Given the description of an element on the screen output the (x, y) to click on. 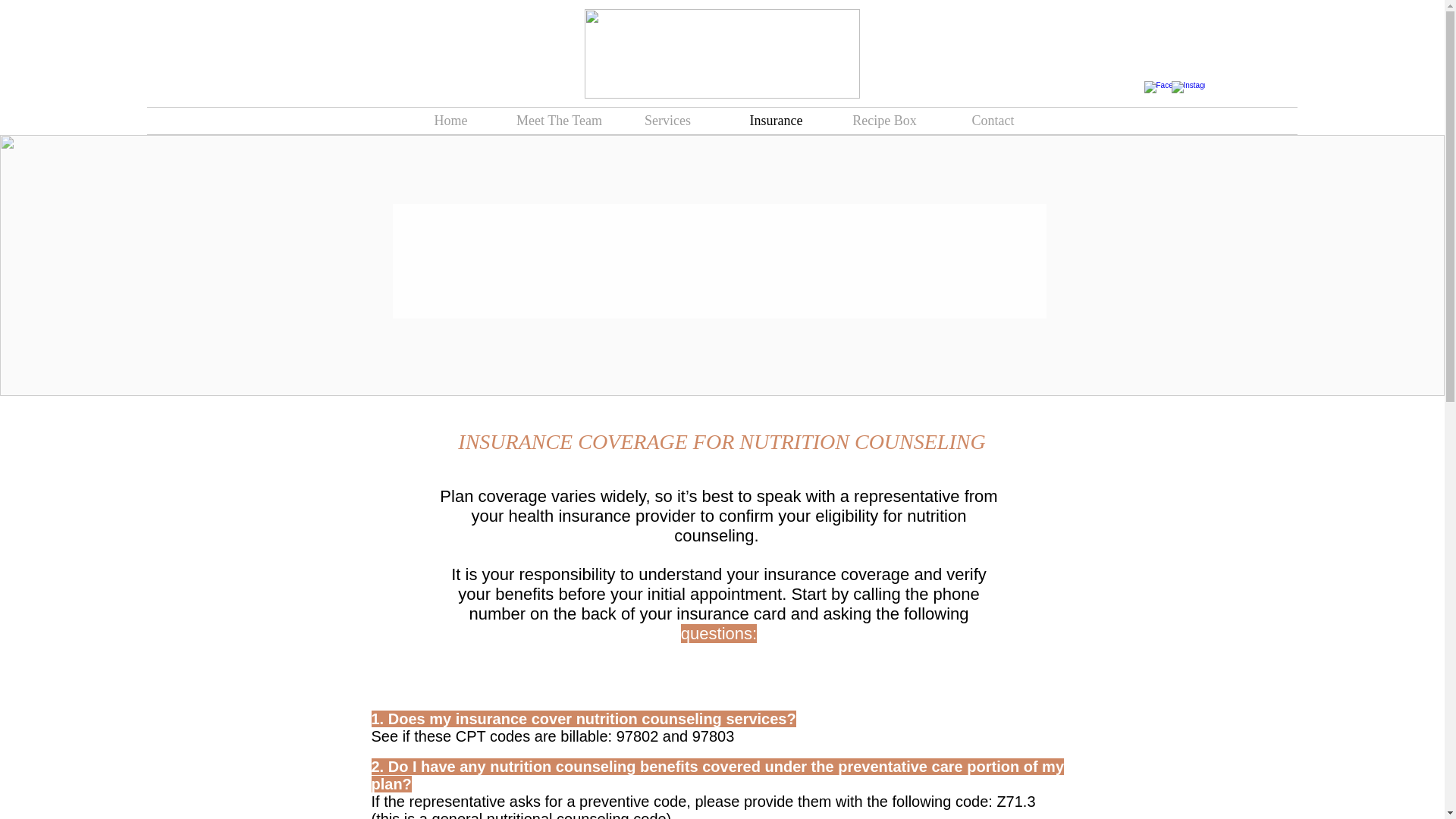
Chandler Ray, RDN.png (721, 53)
Home (450, 120)
Insurance (775, 120)
Contact (992, 120)
Recipe Box (884, 120)
Services (667, 120)
Meet The Team (558, 120)
